Given the description of an element on the screen output the (x, y) to click on. 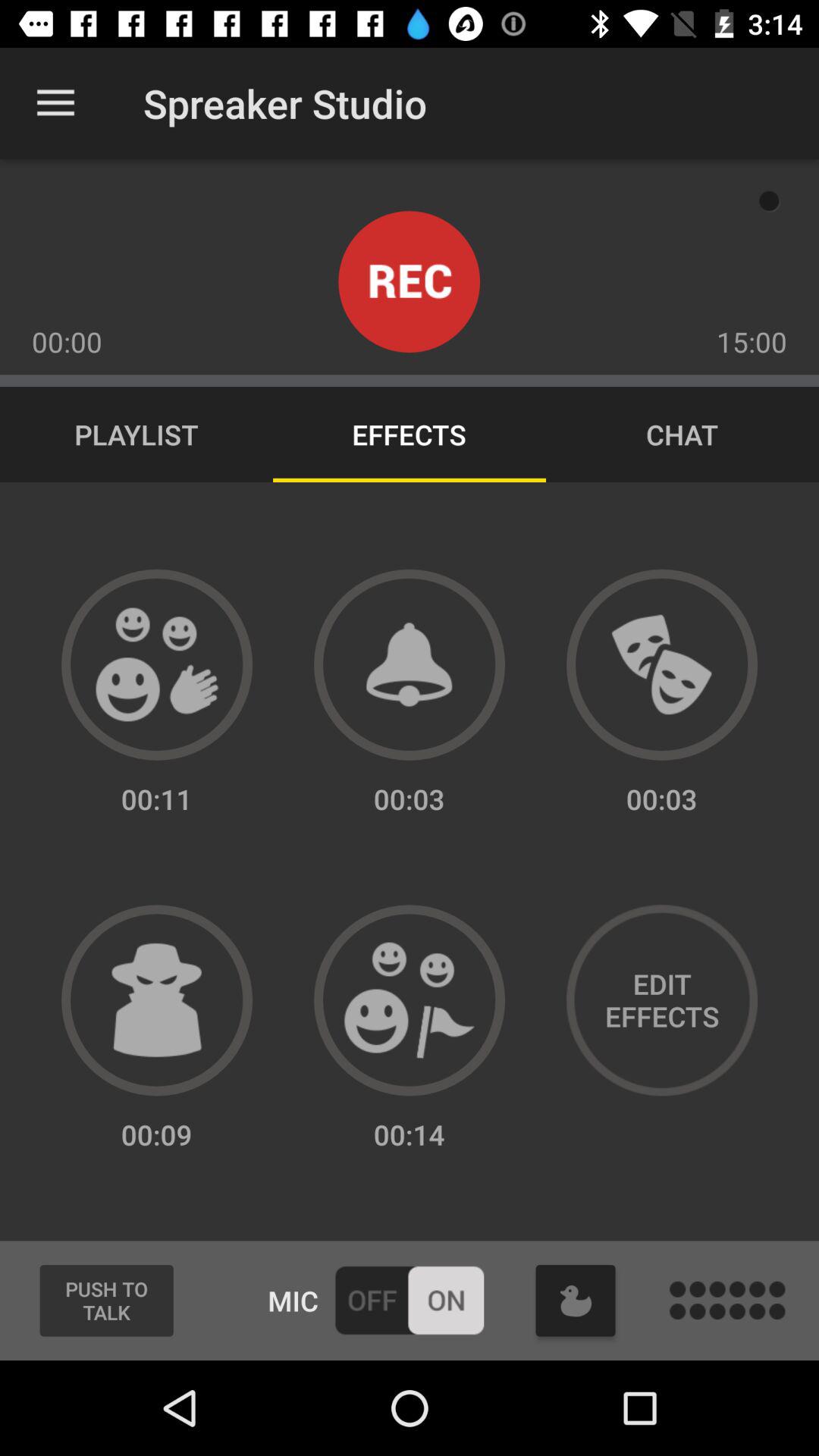
selct the option (409, 999)
